Given the description of an element on the screen output the (x, y) to click on. 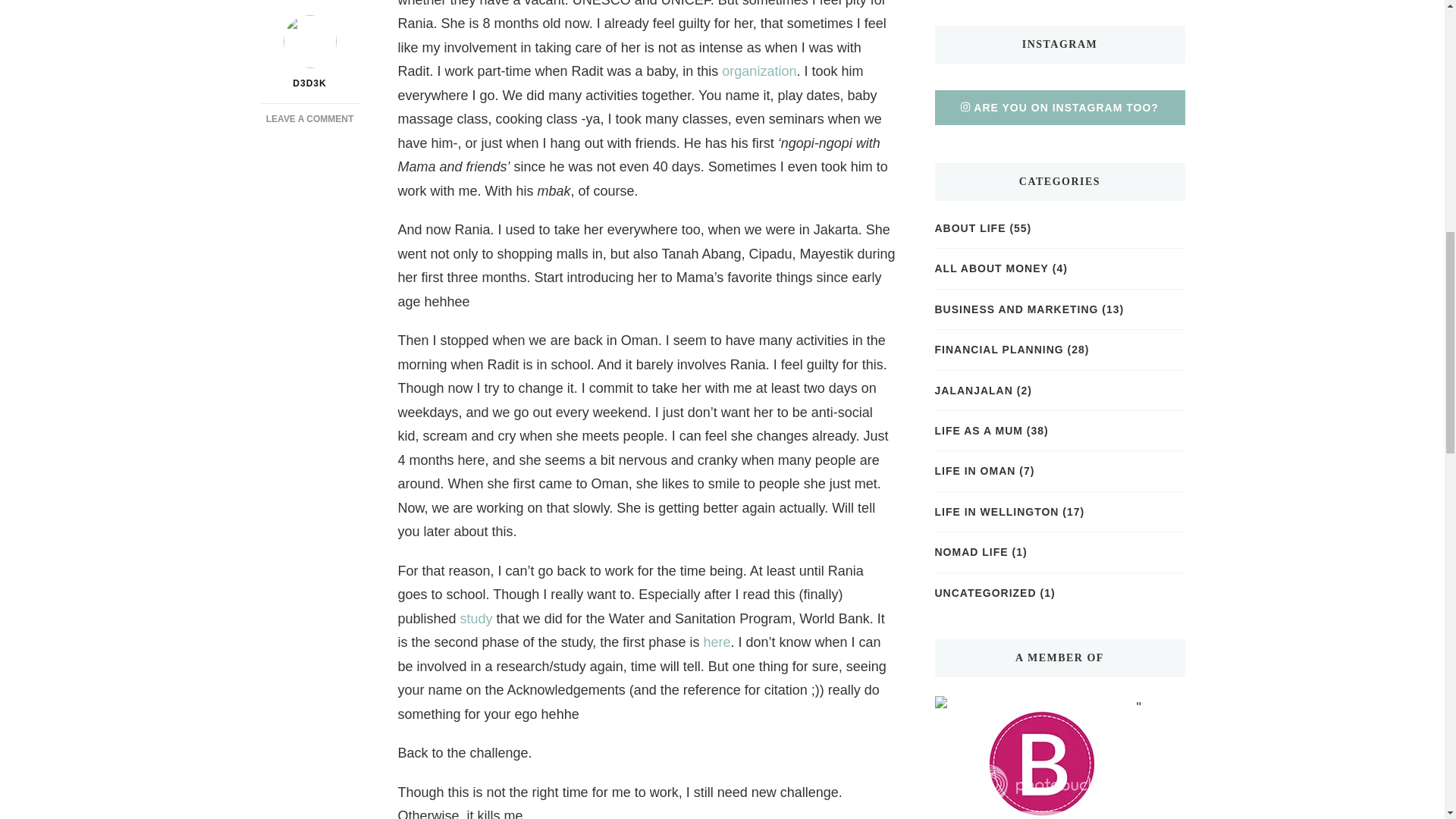
organization (759, 70)
here (716, 642)
study (476, 618)
